Given the description of an element on the screen output the (x, y) to click on. 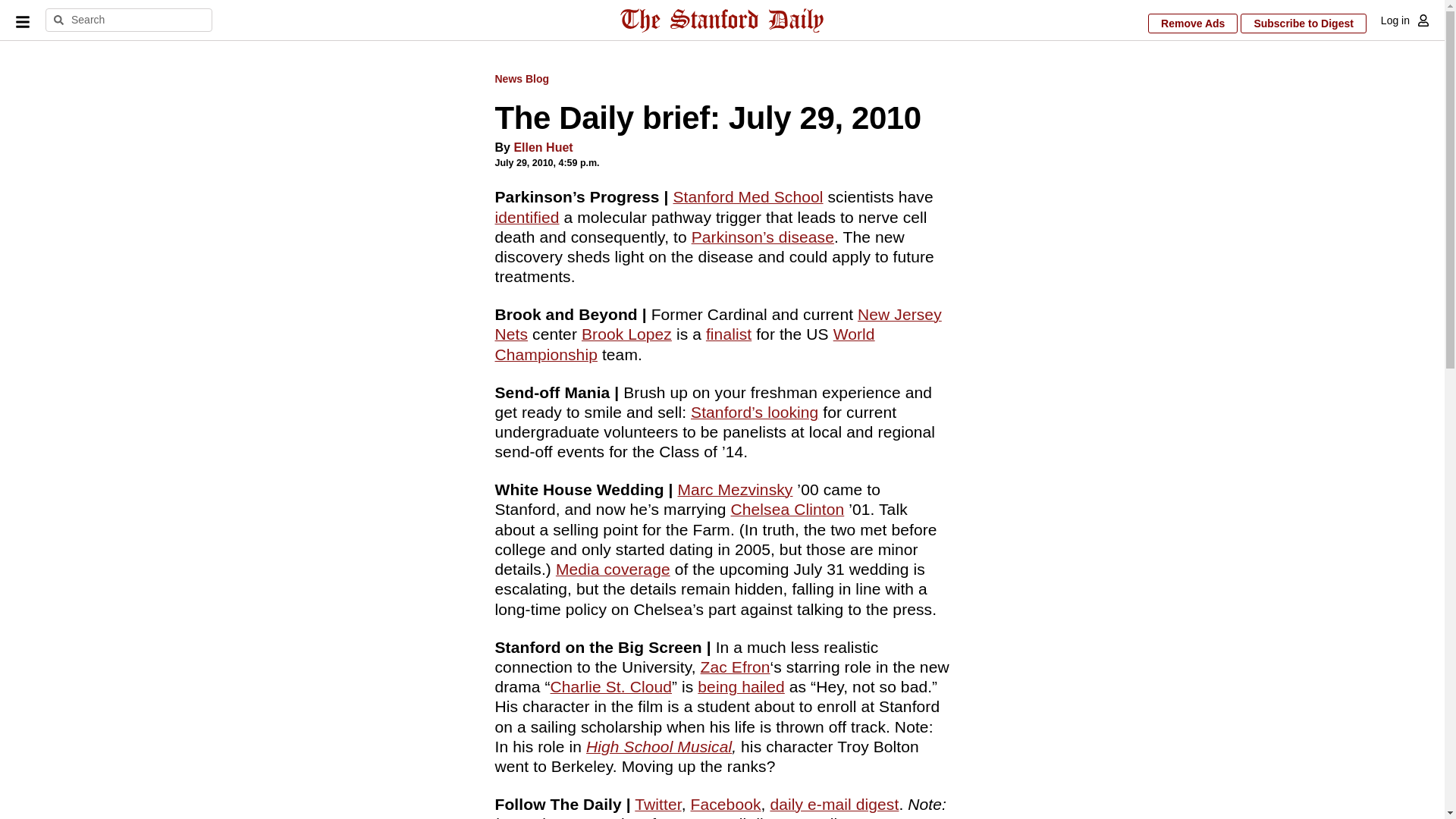
Subscribe to Digest (1302, 23)
Zac Efron (735, 666)
Facebook (725, 804)
Media coverage (612, 569)
Remove Ads (1192, 23)
being hailed (740, 686)
identified (527, 216)
Brook Lopez (625, 334)
finalist (728, 334)
New Jersey Nets (717, 324)
Charlie St. Cloud (610, 686)
Chelsea Clinton (787, 508)
World Championship (685, 343)
daily e-mail digest (834, 804)
Stanford Med School (748, 196)
